Given the description of an element on the screen output the (x, y) to click on. 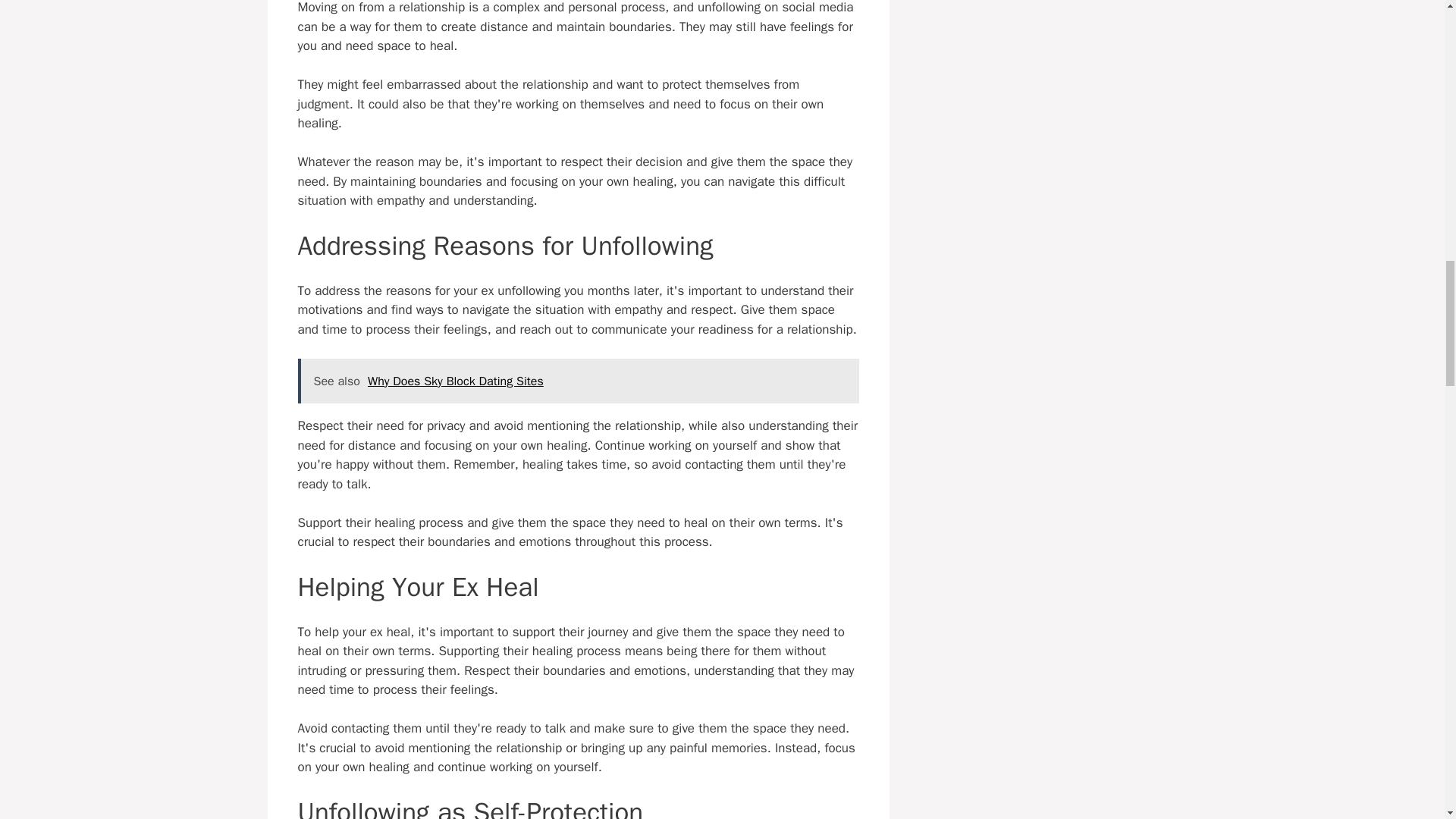
See also  Why Does Sky Block Dating Sites (578, 381)
